Given the description of an element on the screen output the (x, y) to click on. 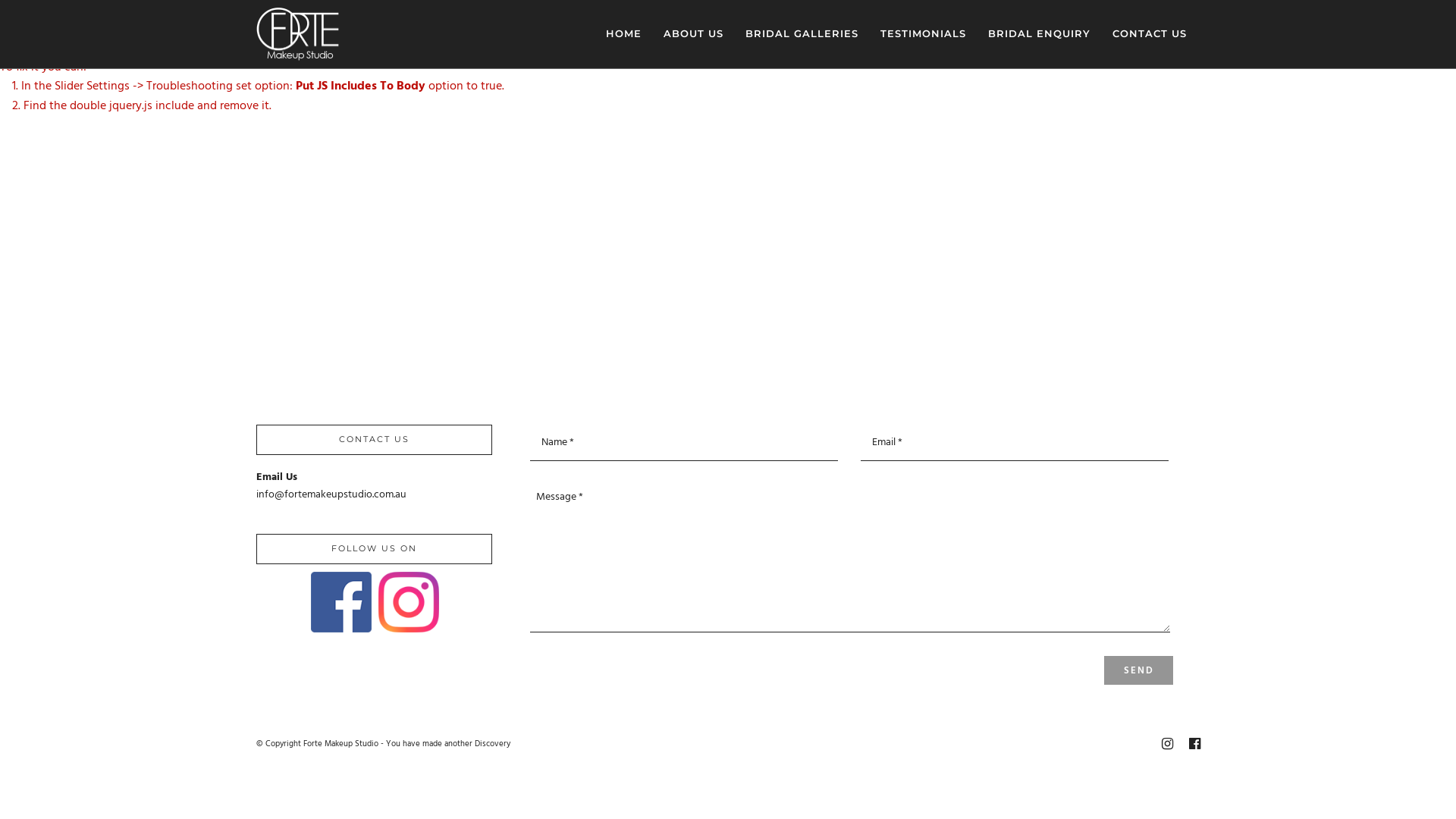
Send Element type: text (1138, 669)
HOME Element type: text (623, 33)
TESTIMONIALS Element type: text (922, 33)
Instagram Element type: hover (1166, 743)
BRIDAL ENQUIRY Element type: text (1039, 33)
Discovery Element type: text (492, 743)
BRIDAL GALLERIES Element type: text (801, 33)
ABOUT US Element type: text (693, 33)
CONTACT US Element type: text (1149, 33)
